Given the description of an element on the screen output the (x, y) to click on. 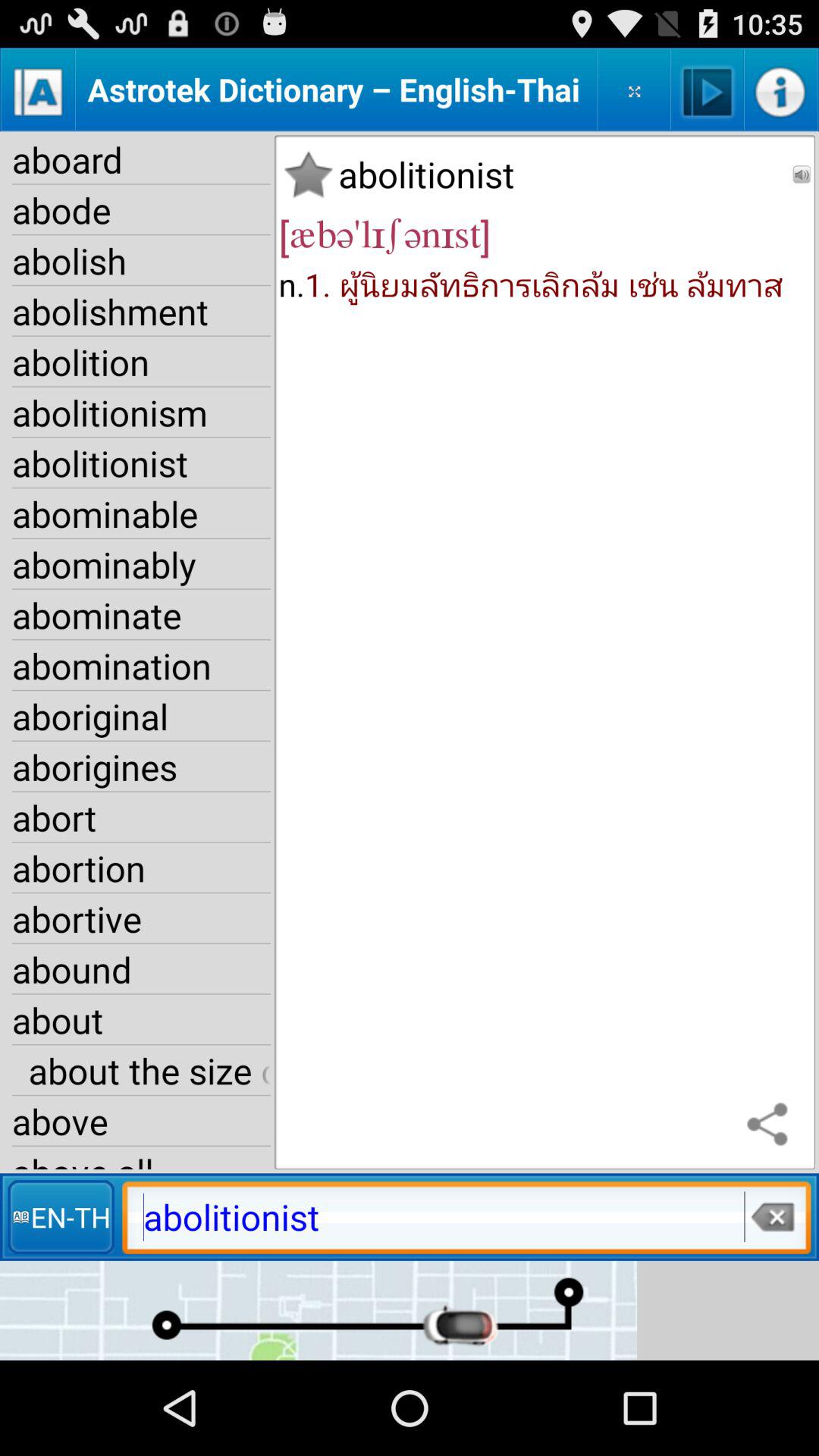
turn off the item below the astrotek dictionary english icon (308, 174)
